Given the description of an element on the screen output the (x, y) to click on. 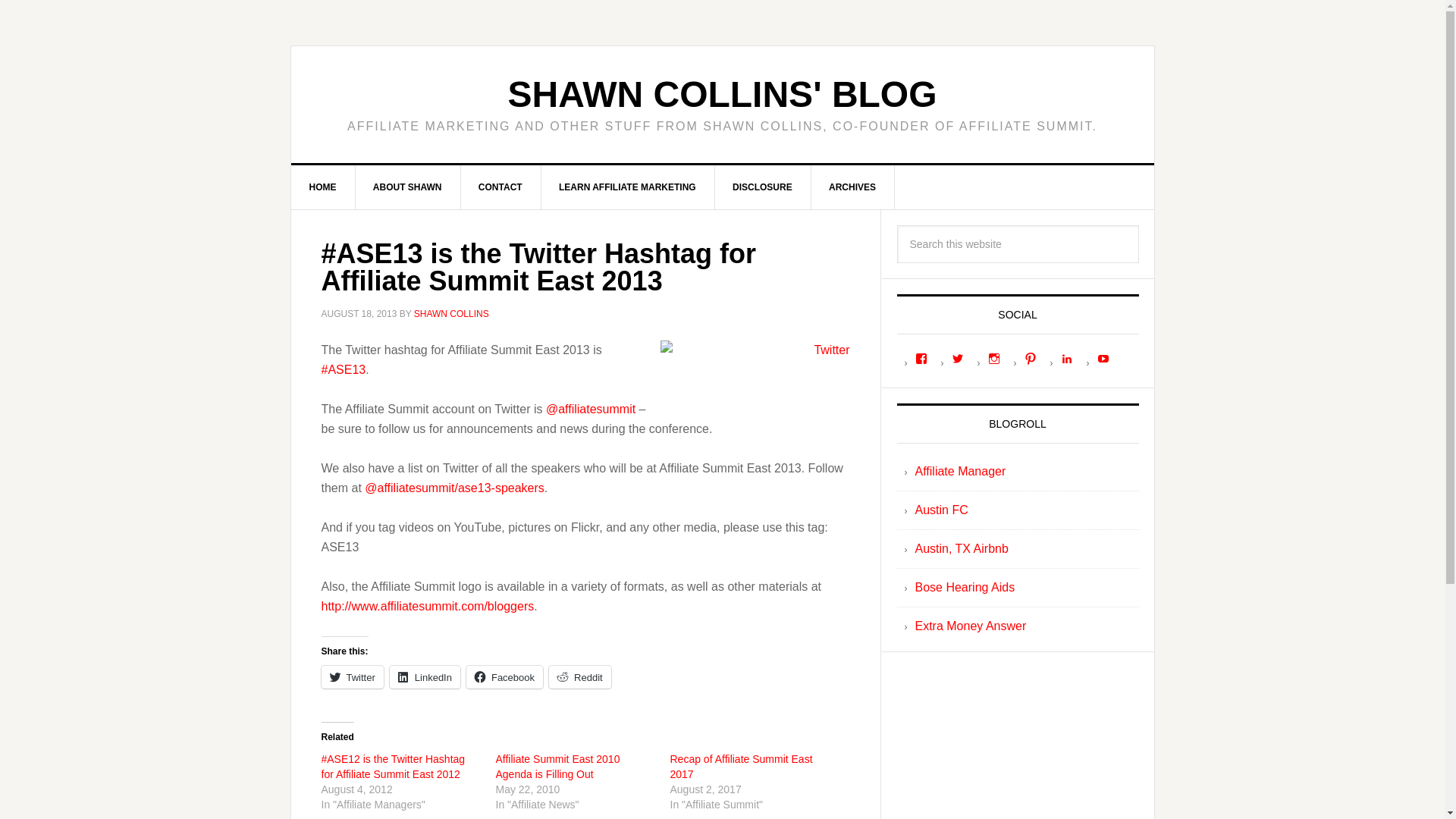
ABOUT SHAWN (408, 187)
SHAWN COLLINS (451, 313)
Affiliate Summit East 2010 Agenda is Filling Out (558, 766)
Affiliate Summit East 2010 Agenda is Filling Out (558, 766)
Click to share on Facebook (504, 676)
DISCLOSURE (762, 187)
Twitter (753, 361)
LinkedIn (425, 676)
Recap of Affiliate Summit East 2017 (740, 766)
